Given the description of an element on the screen output the (x, y) to click on. 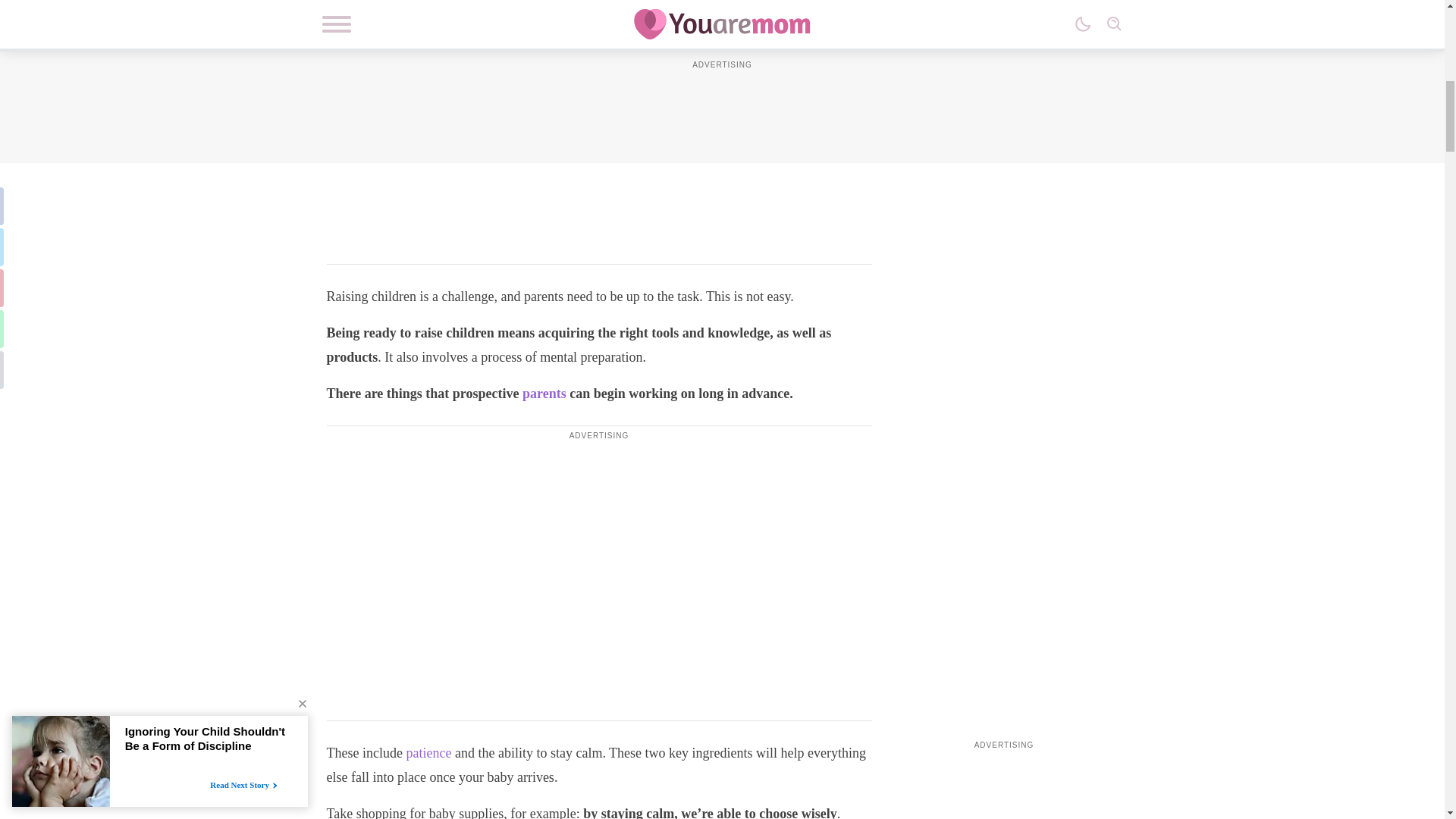
patience (428, 752)
3rd party ad content (598, 88)
parents (544, 393)
